Given the description of an element on the screen output the (x, y) to click on. 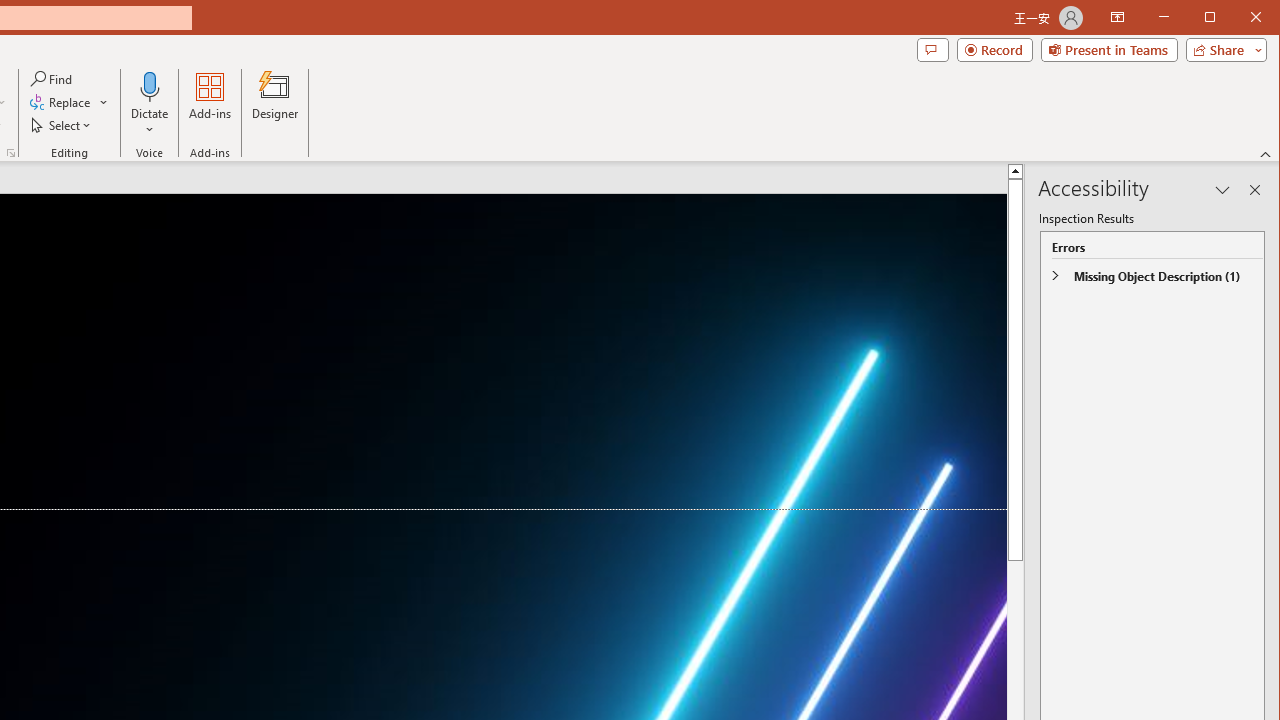
Designer (274, 104)
Format Object... (10, 152)
